Given the description of an element on the screen output the (x, y) to click on. 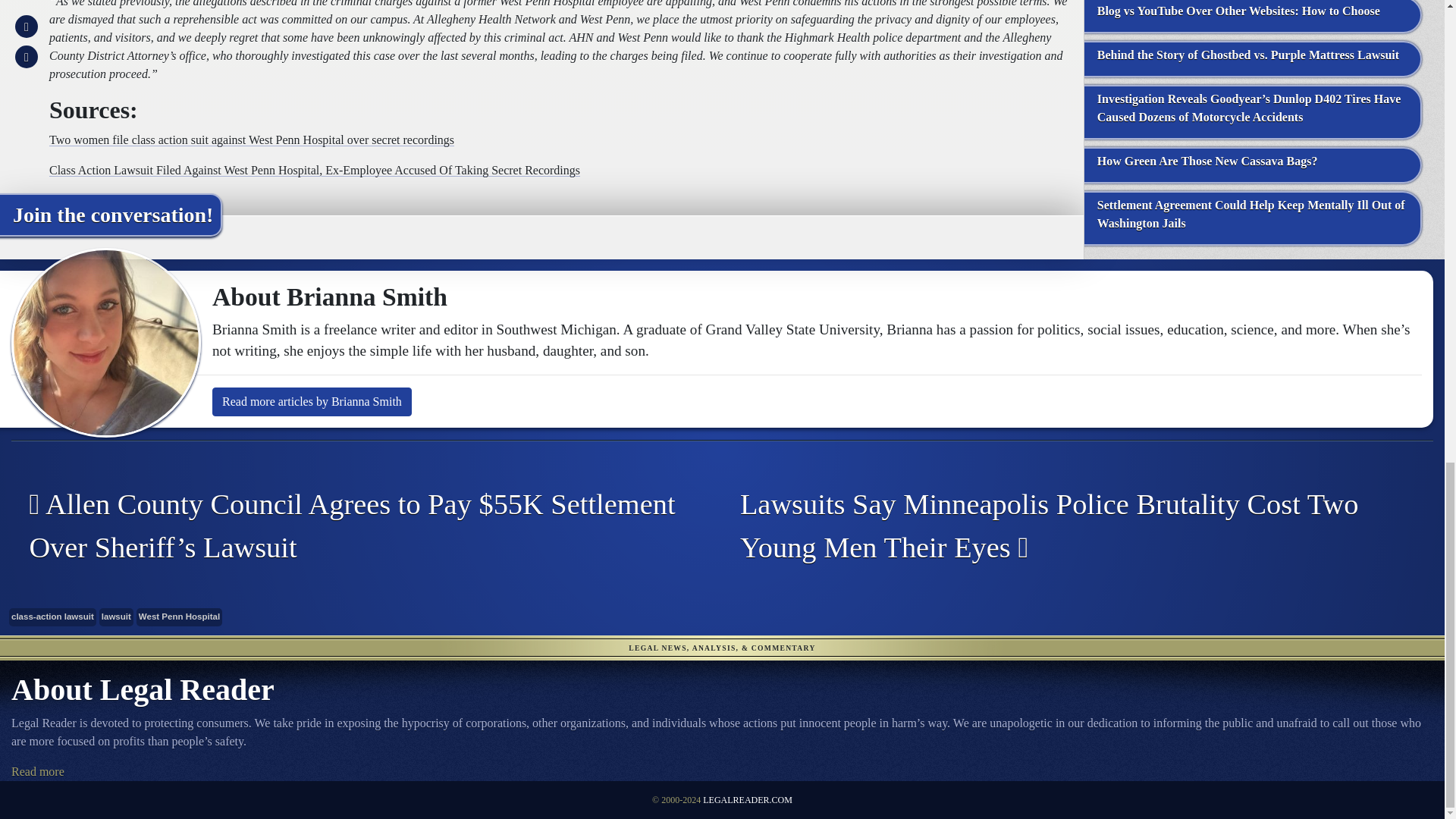
Read more articles by Brianna Smith (312, 401)
Read more articles by Brianna Smith (312, 401)
class-action lawsuit (52, 616)
